Given the description of an element on the screen output the (x, y) to click on. 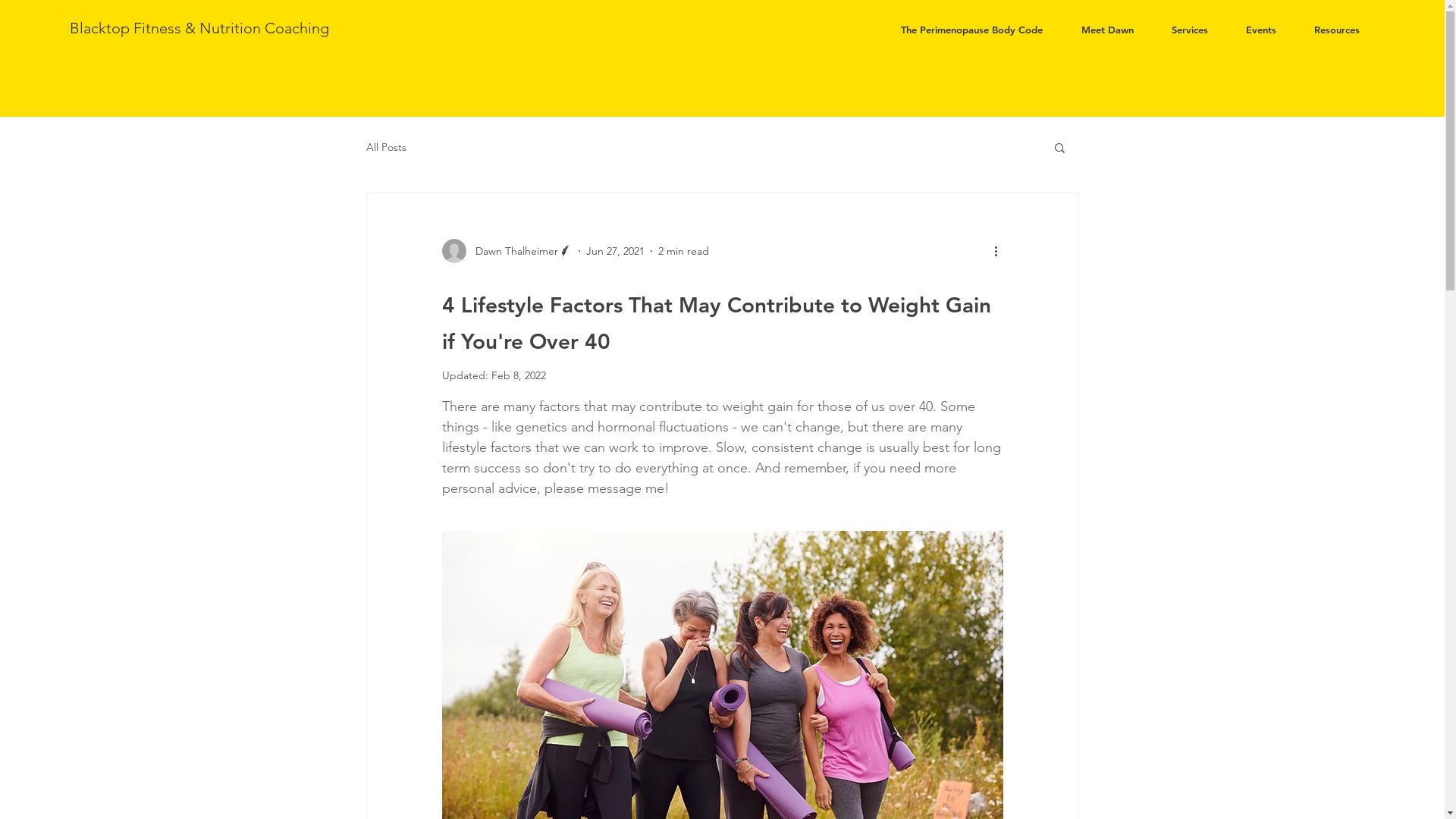
Blacktop Fitness & Nutrition Coaching Element type: text (199, 27)
Dawn Thalheimer Element type: text (506, 250)
All Posts Element type: text (385, 146)
Services Element type: text (1189, 29)
The Perimenopause Body Code Element type: text (971, 29)
Events Element type: text (1260, 29)
Meet Dawn Element type: text (1106, 29)
Resources Element type: text (1336, 29)
